Given the description of an element on the screen output the (x, y) to click on. 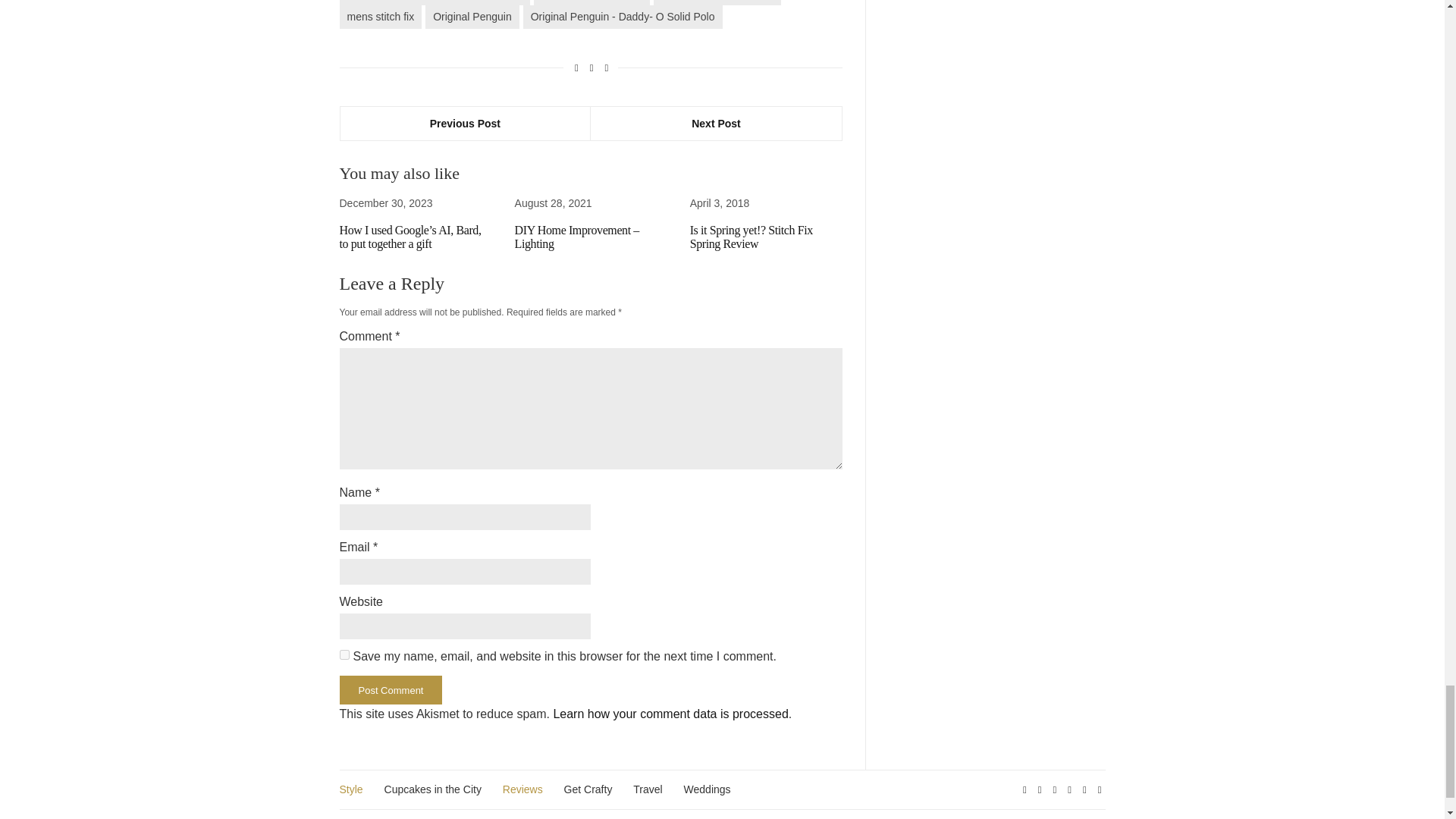
Post Comment (390, 689)
yes (344, 655)
Original Penguin (472, 16)
Original Penguin - Daddy- O Solid Polo (622, 16)
Men's Stitch Fix Review (716, 2)
Hawker Rye - Karson Spacedye Polo (434, 2)
mens stitch fix (380, 16)
Next Post (716, 123)
men's spring stitch fix (591, 2)
Previous Post (465, 123)
